Given the description of an element on the screen output the (x, y) to click on. 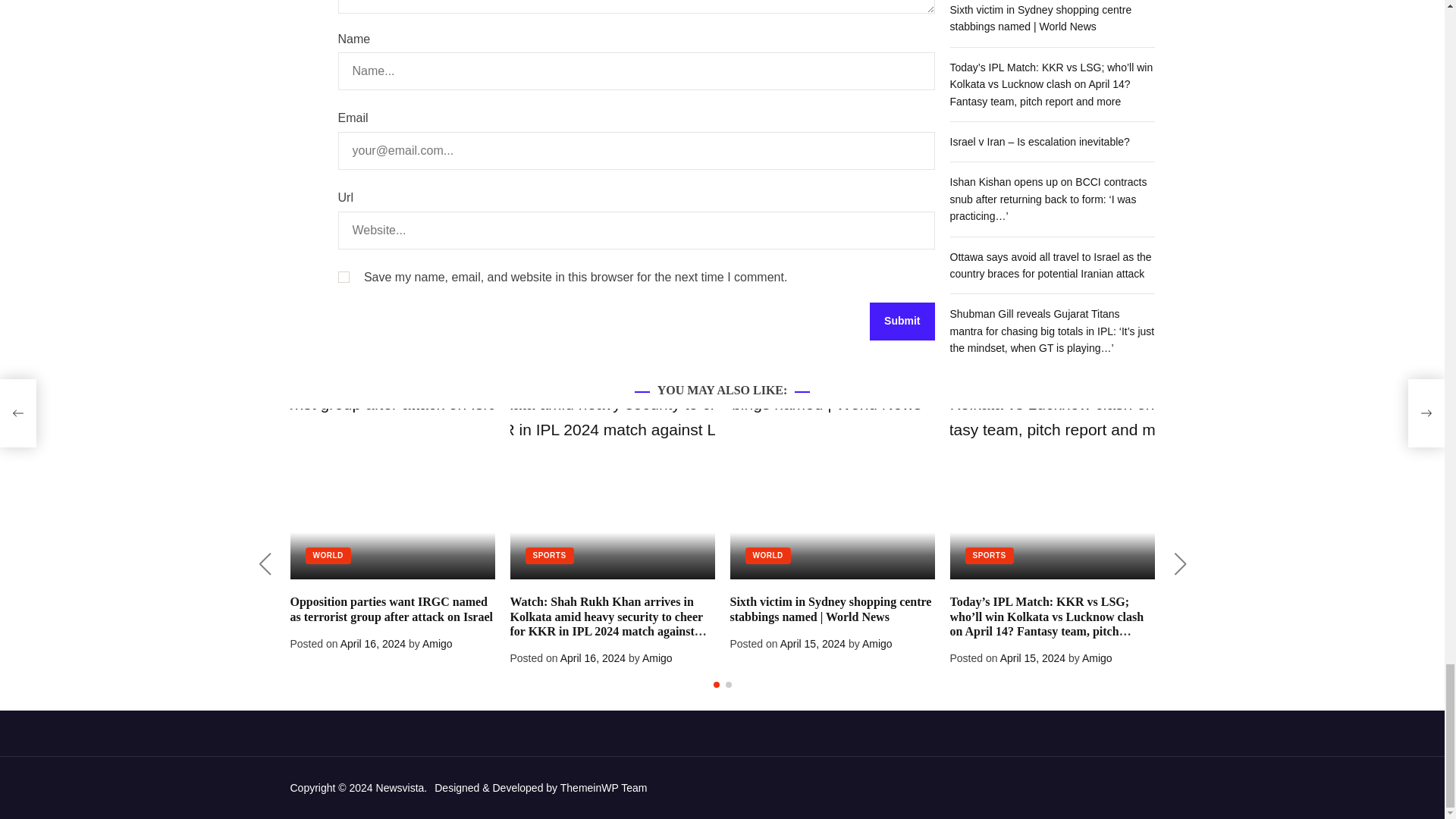
Submit (901, 321)
yes (343, 276)
